Given the description of an element on the screen output the (x, y) to click on. 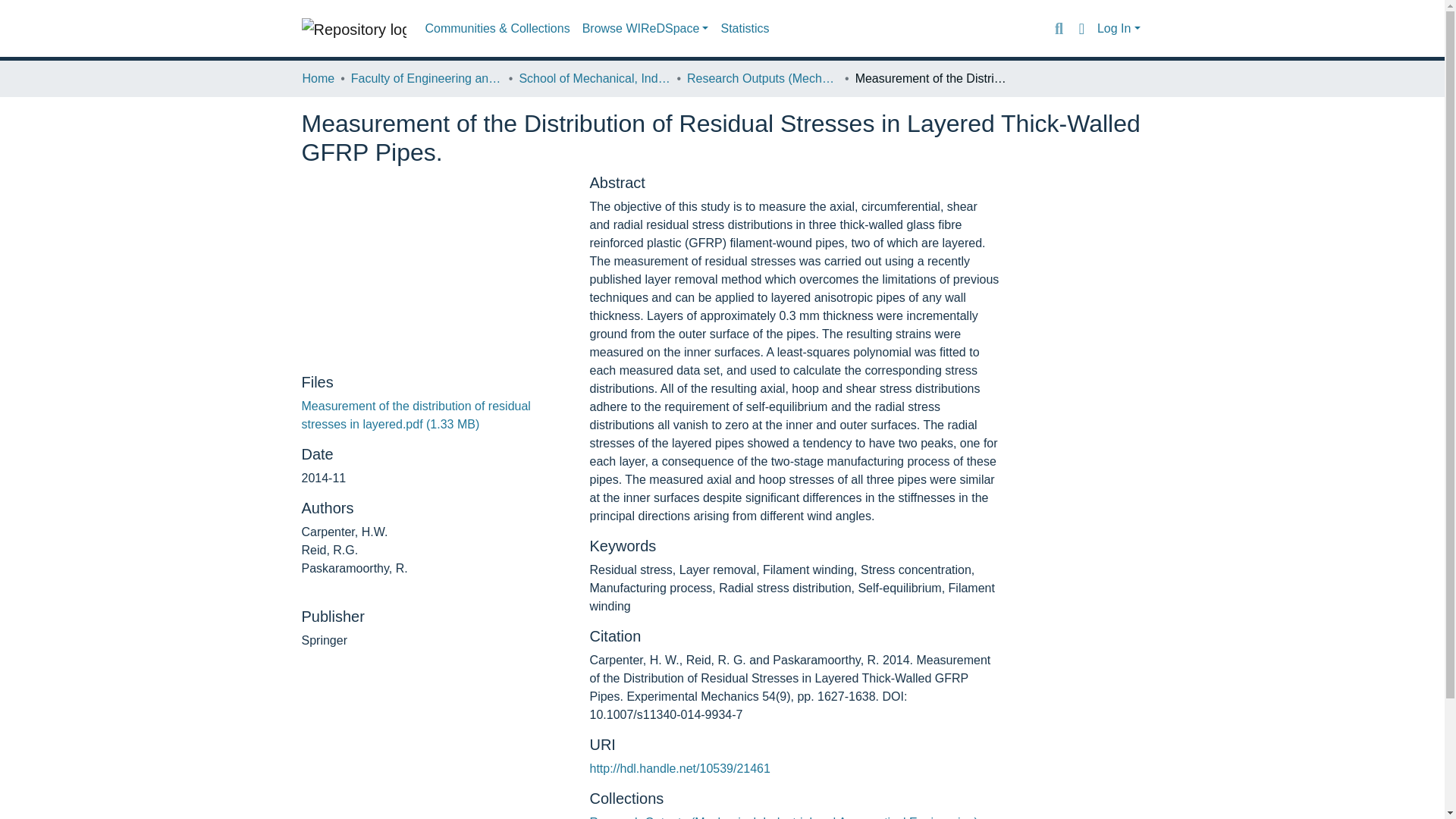
Statistics (744, 28)
Log In (1118, 28)
Language switch (1081, 28)
Statistics (744, 28)
Search (1058, 28)
Browse WIReDSpace (645, 28)
Faculty of Engineering and Built Environment (426, 78)
Home (317, 78)
